Given the description of an element on the screen output the (x, y) to click on. 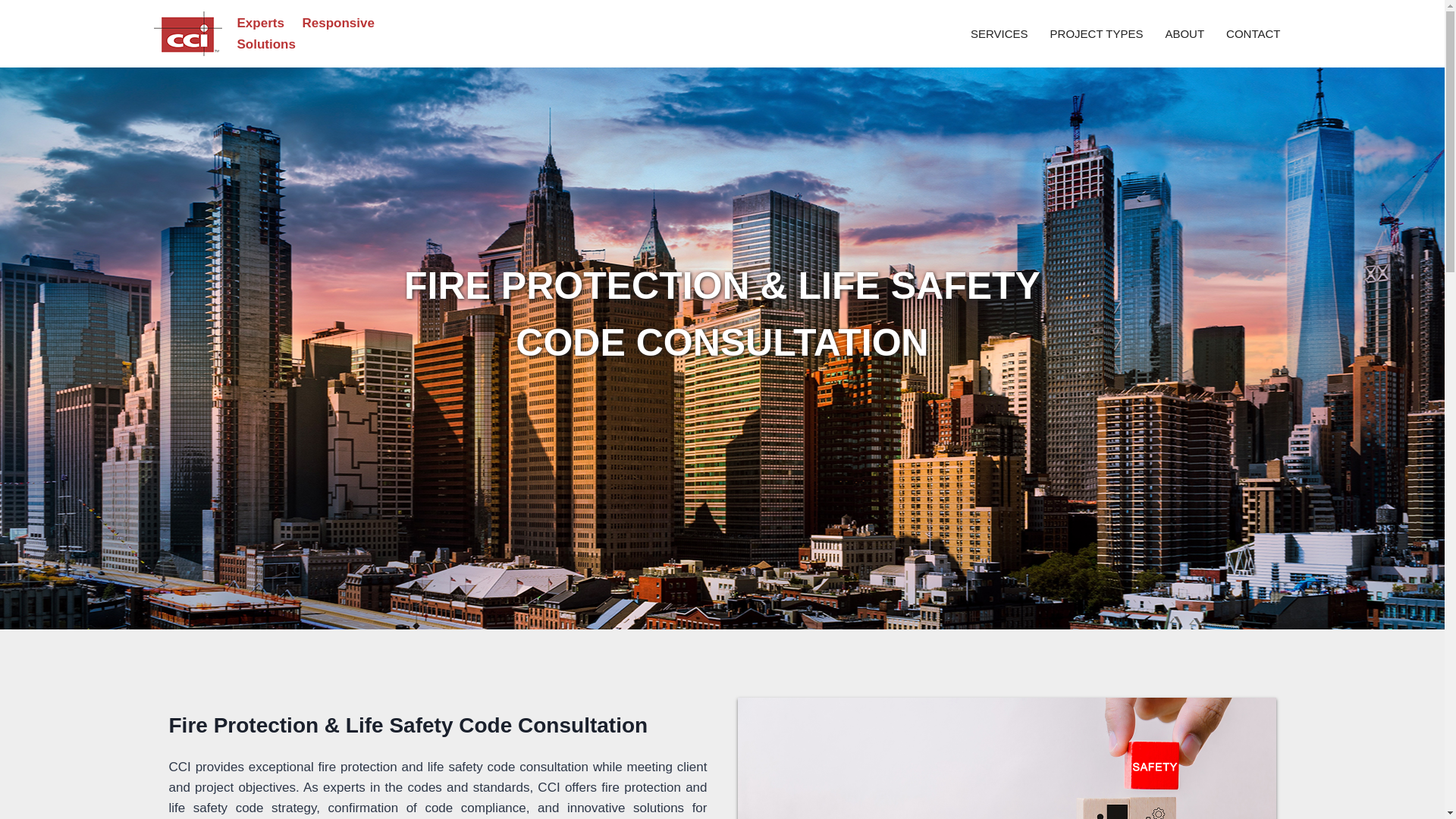
logo (186, 33)
Safety (1005, 758)
PROJECT TYPES (1096, 33)
SERVICES (999, 33)
